Given the description of an element on the screen output the (x, y) to click on. 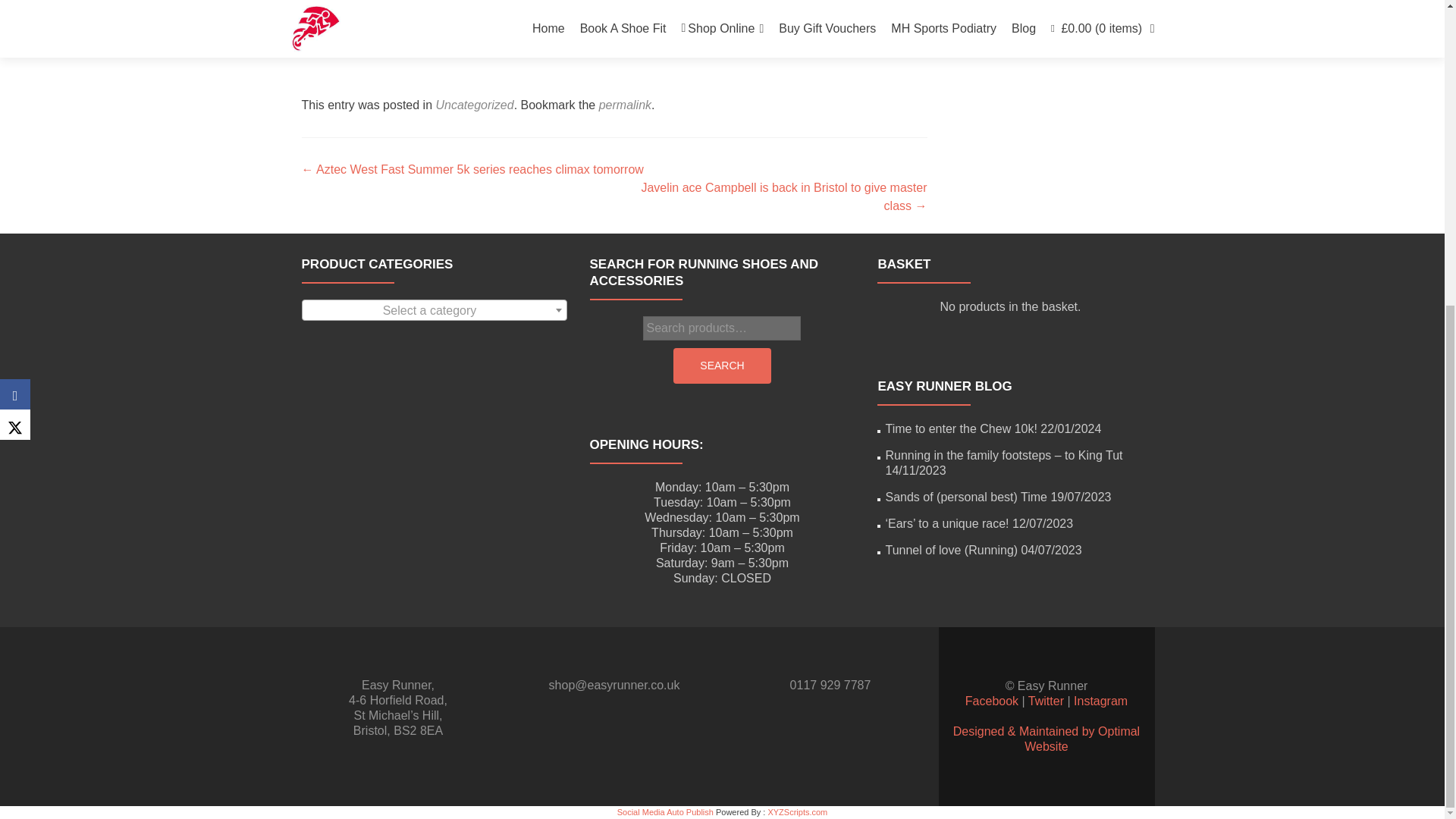
Social Media Auto Publish (665, 811)
Time to enter the Chew 10k! (960, 428)
Facebook (991, 700)
permalink (624, 104)
Uncategorized (474, 104)
SEARCH (721, 366)
Twitter (1045, 700)
Instagram (1100, 700)
Social Media Auto Publish (665, 811)
XYZScripts.com (797, 811)
